Given the description of an element on the screen output the (x, y) to click on. 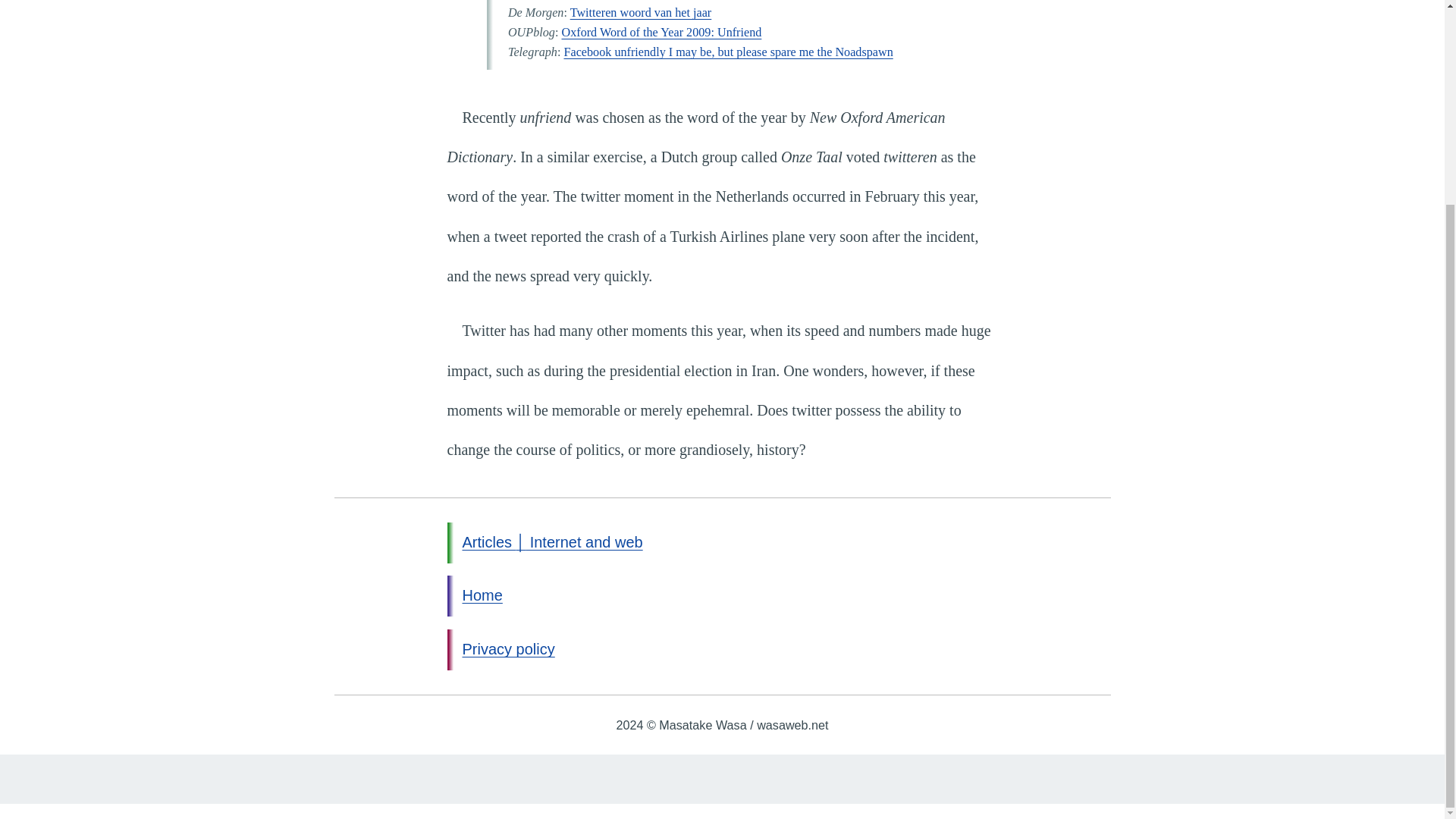
Privacy policy (508, 648)
Twitteren woord van het jaar (640, 11)
Oxford Word of the Year 2009: Unfriend (660, 31)
Home (482, 595)
